Given the description of an element on the screen output the (x, y) to click on. 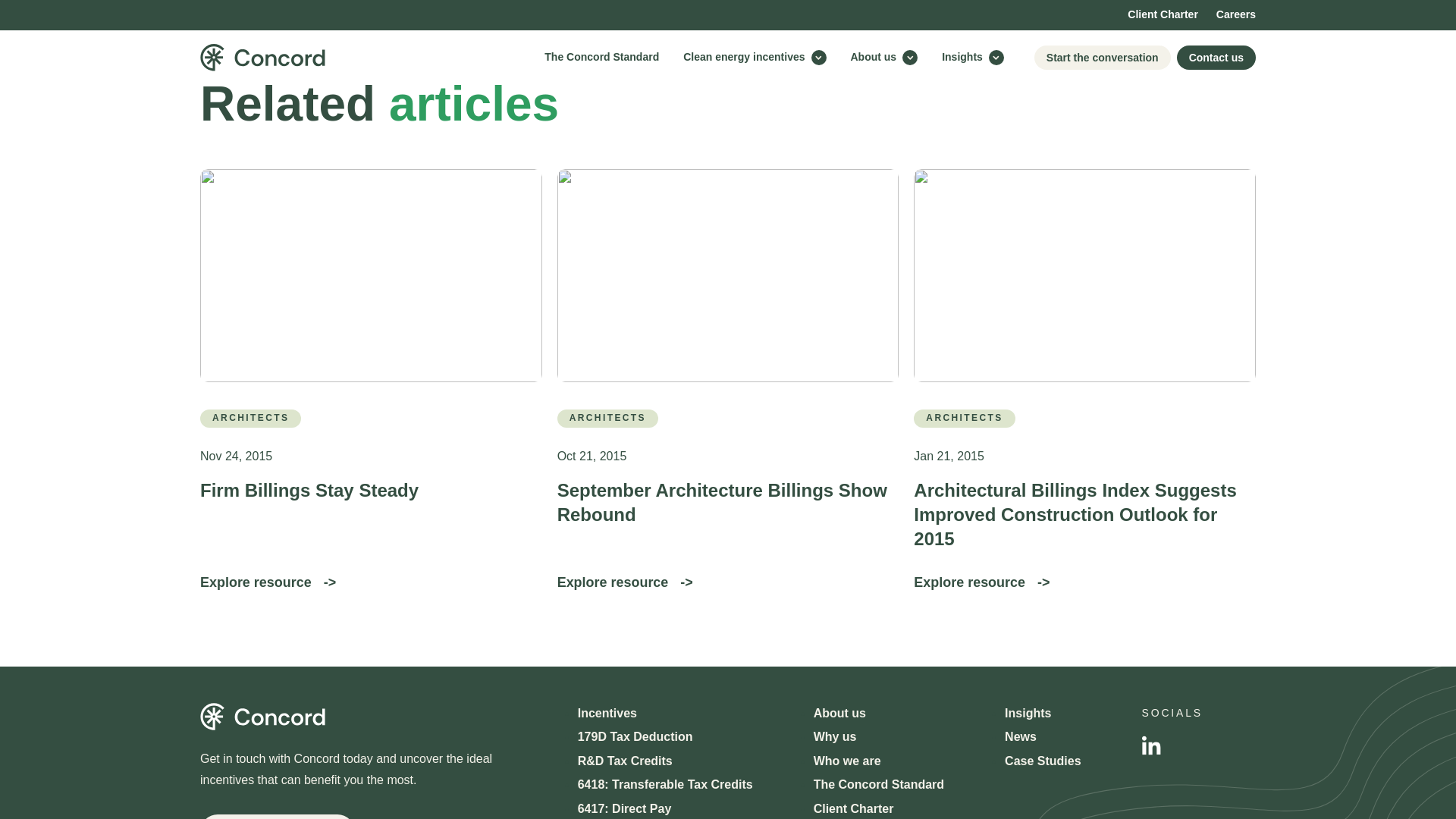
Contact us (277, 816)
179D Tax Deduction (635, 736)
Explore resource (268, 582)
Incentives (607, 712)
ARCHITECTS (964, 418)
Explore resource (625, 582)
ARCHITECTS (250, 418)
Explore resource (981, 582)
ARCHITECTS (607, 418)
